Given the description of an element on the screen output the (x, y) to click on. 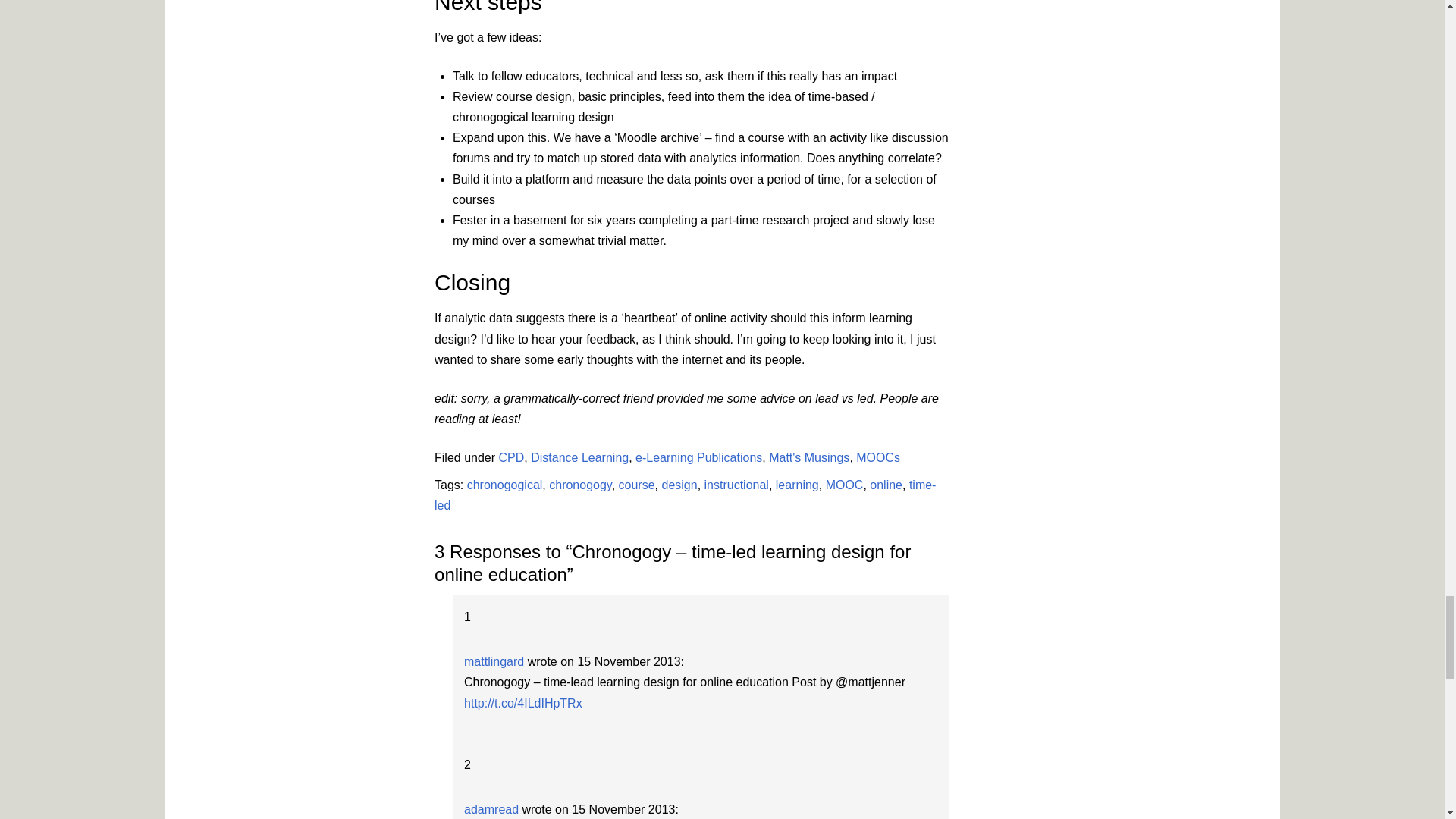
MOOCs (877, 457)
time-led (684, 494)
design (679, 484)
mattlingard (494, 661)
instructional (736, 484)
learning (797, 484)
CPD (511, 457)
Matt's Musings (808, 457)
course (636, 484)
MOOC (844, 484)
chronogogical (505, 484)
online (885, 484)
chronogogy (579, 484)
Distance Learning (579, 457)
e-Learning Publications (697, 457)
